Given the description of an element on the screen output the (x, y) to click on. 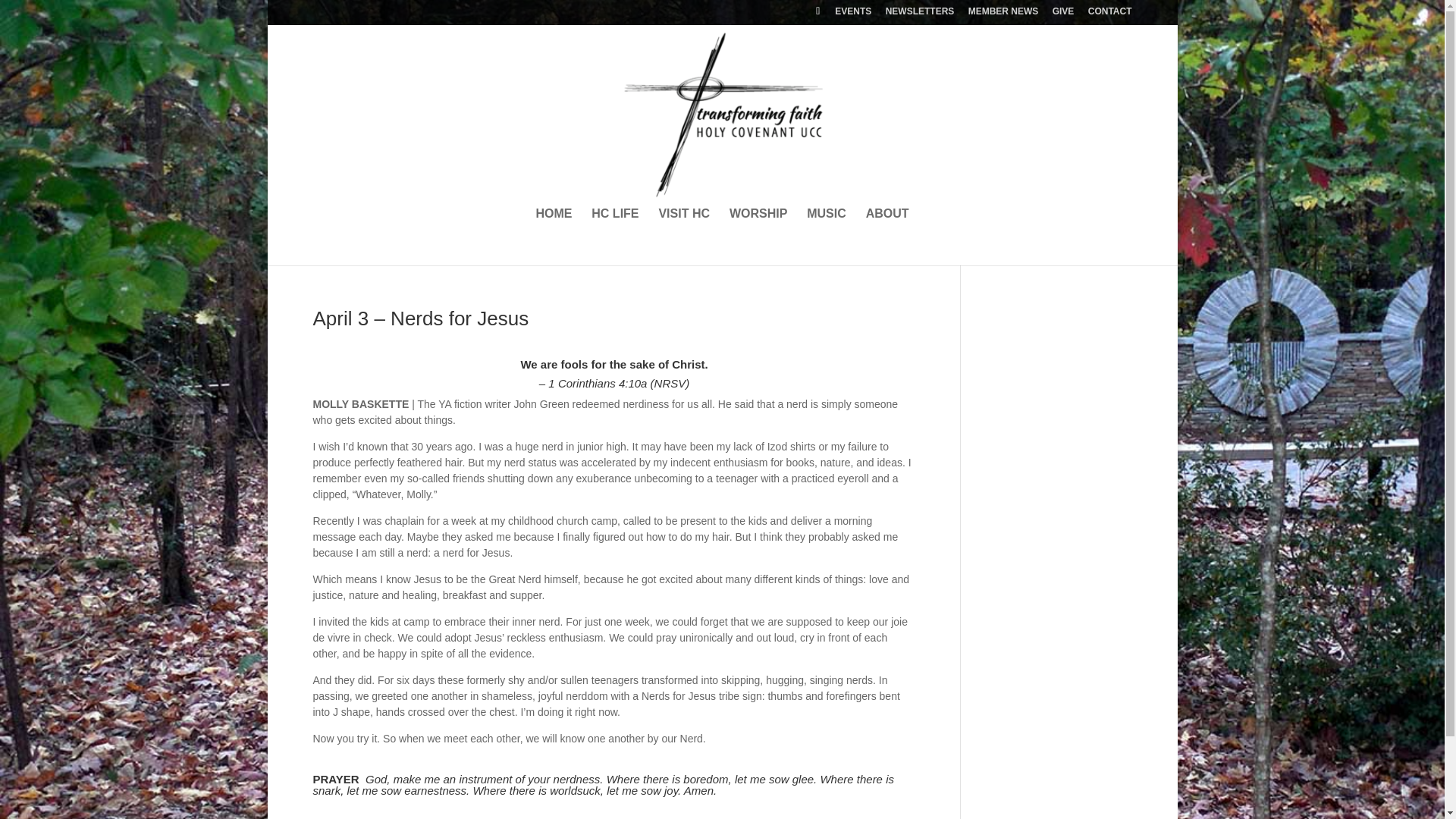
EVENTS (852, 14)
WORSHIP (758, 229)
VISIT HC (684, 229)
HC LIFE (615, 229)
GIVE (1063, 14)
MEMBER NEWS (1003, 14)
ABOUT (887, 229)
MUSIC (825, 229)
CONTACT (1109, 14)
NEWSLETTERS (920, 14)
